Given the description of an element on the screen output the (x, y) to click on. 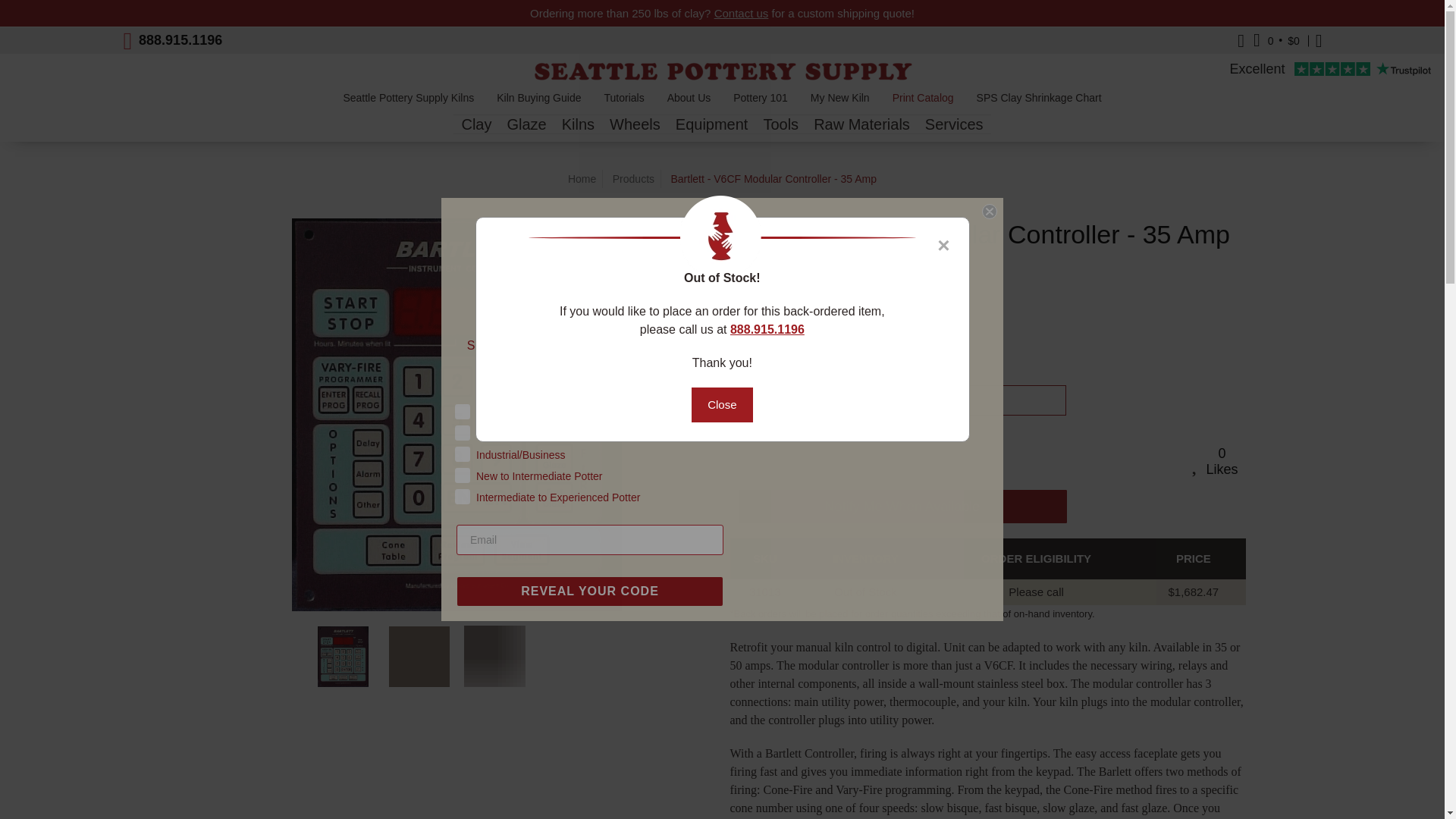
Print Catalog (922, 101)
Clay (475, 123)
Kiln Buying Guide (538, 101)
Sold Out (900, 399)
888.915.1196 (180, 39)
Pottery 101 (760, 101)
Clay (475, 123)
0 (901, 366)
Tutorials (623, 101)
SPS Clay Shrinkage Chart (1039, 101)
About Us (689, 101)
My New Kiln (839, 101)
